Given the description of an element on the screen output the (x, y) to click on. 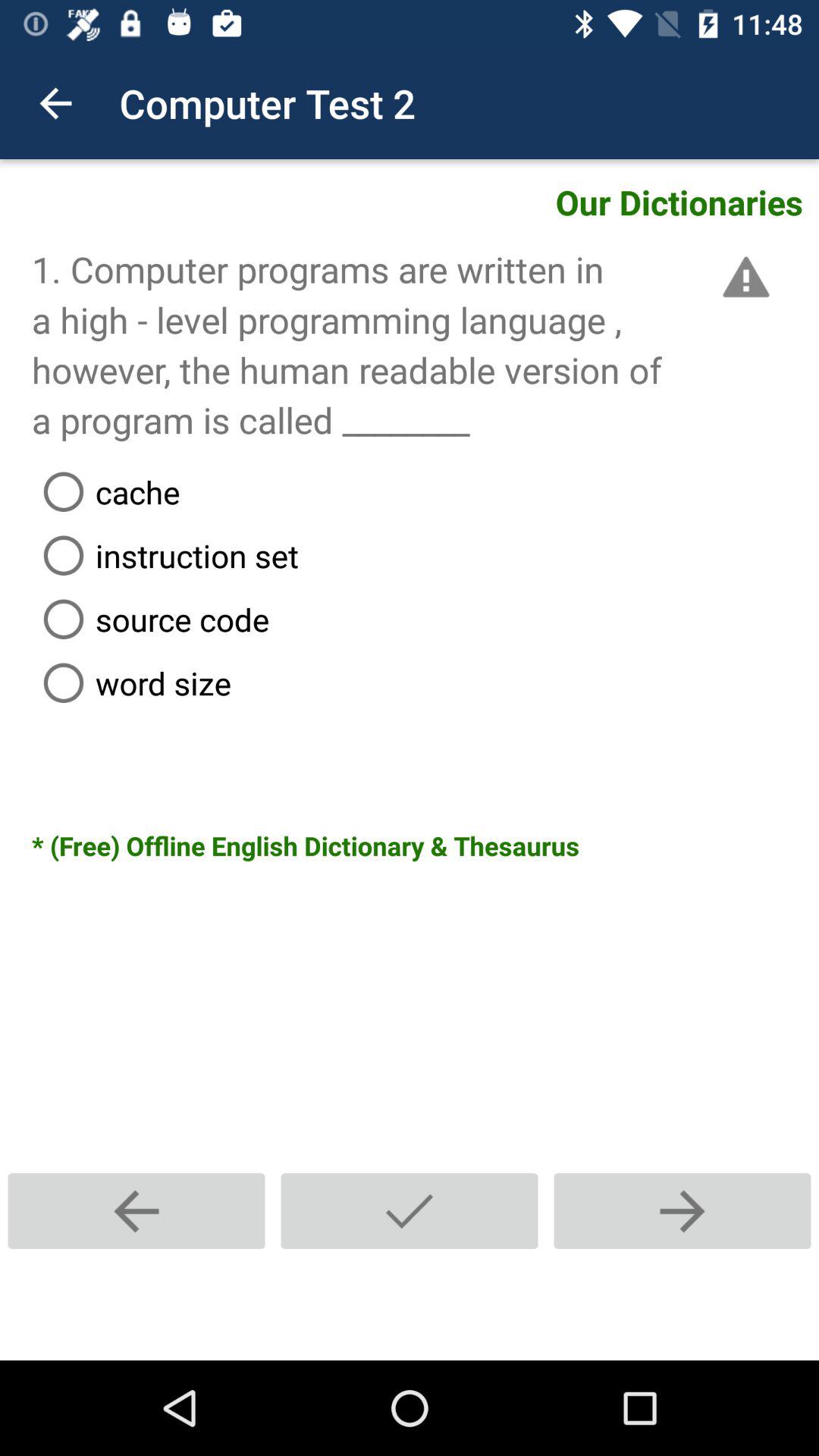
swipe to the cache (425, 491)
